Given the description of an element on the screen output the (x, y) to click on. 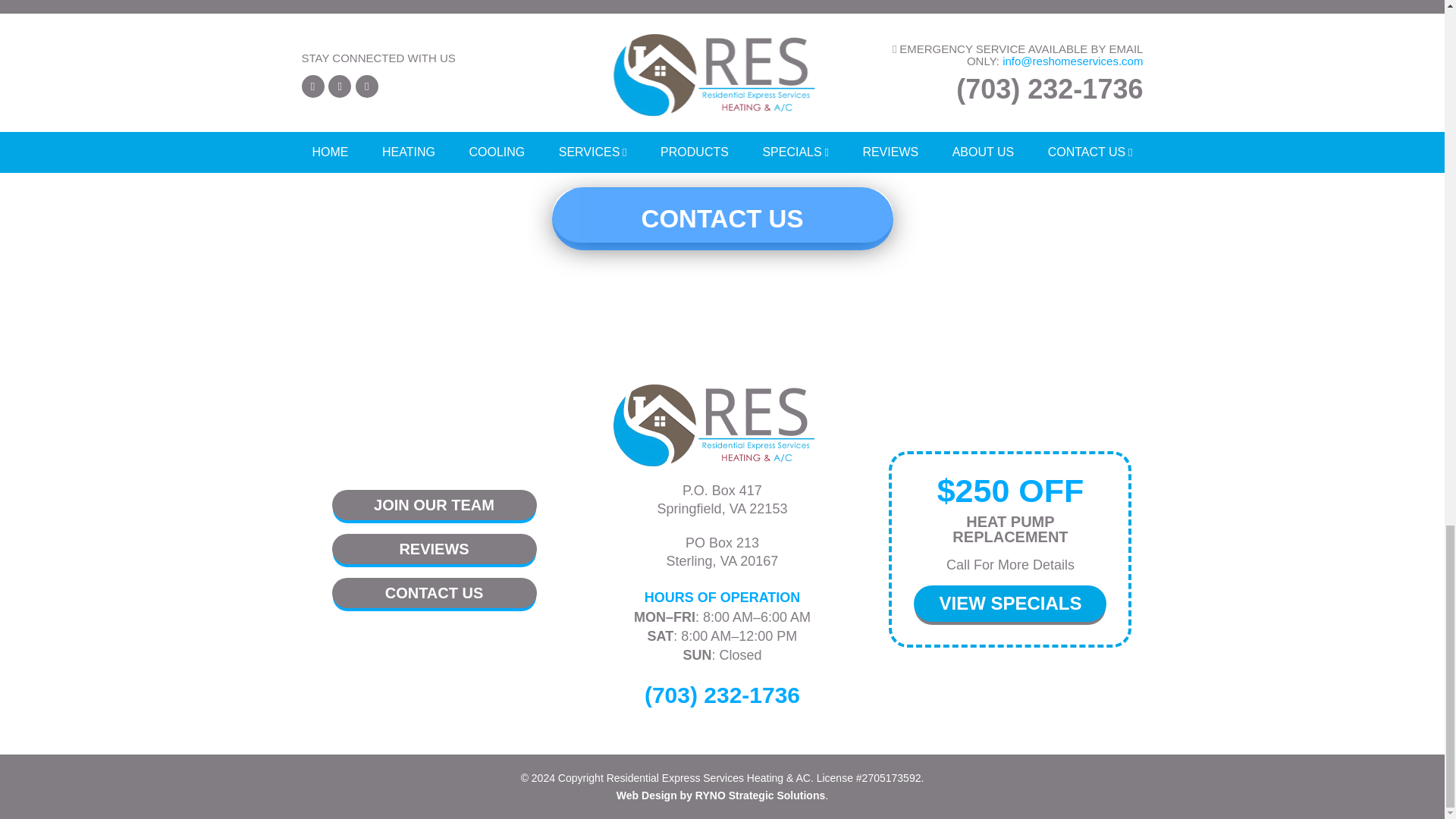
JOIN OUR TEAM (434, 504)
VIEW SPECIALS (1010, 603)
Contact Us (722, 218)
Contact Us (722, 218)
REVIEWS (434, 548)
Web Design by RYNO Strategic Solutions (720, 795)
CONTACT US (434, 593)
